Given the description of an element on the screen output the (x, y) to click on. 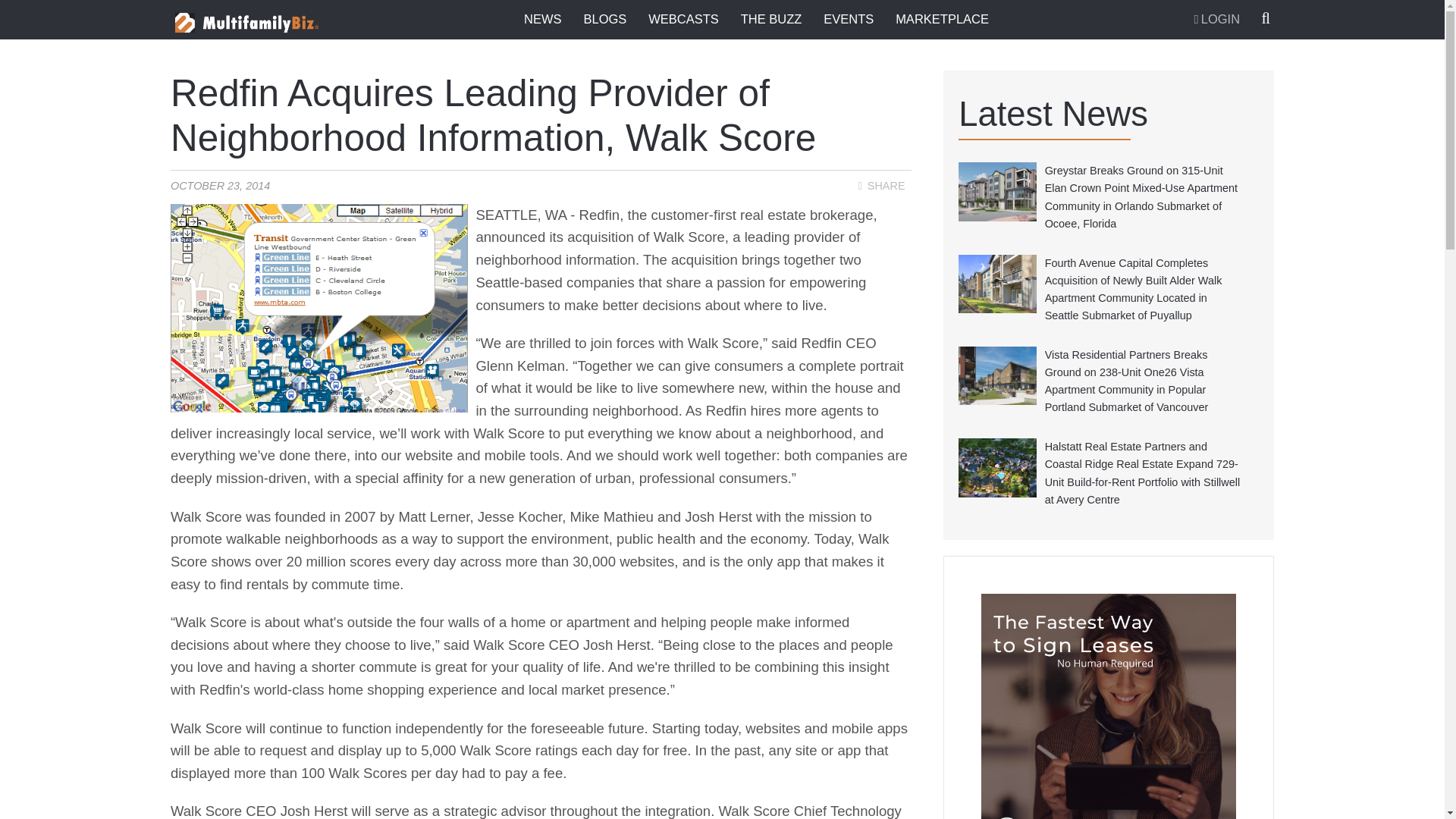
NEWS (542, 18)
MultifamilyBiz Logo (252, 22)
BLOGS (604, 18)
WEBCASTS (683, 18)
All (754, 84)
EVENTS (848, 18)
THE BUZZ (771, 18)
LOGIN (1217, 19)
MARKETPLACE (941, 18)
